Given the description of an element on the screen output the (x, y) to click on. 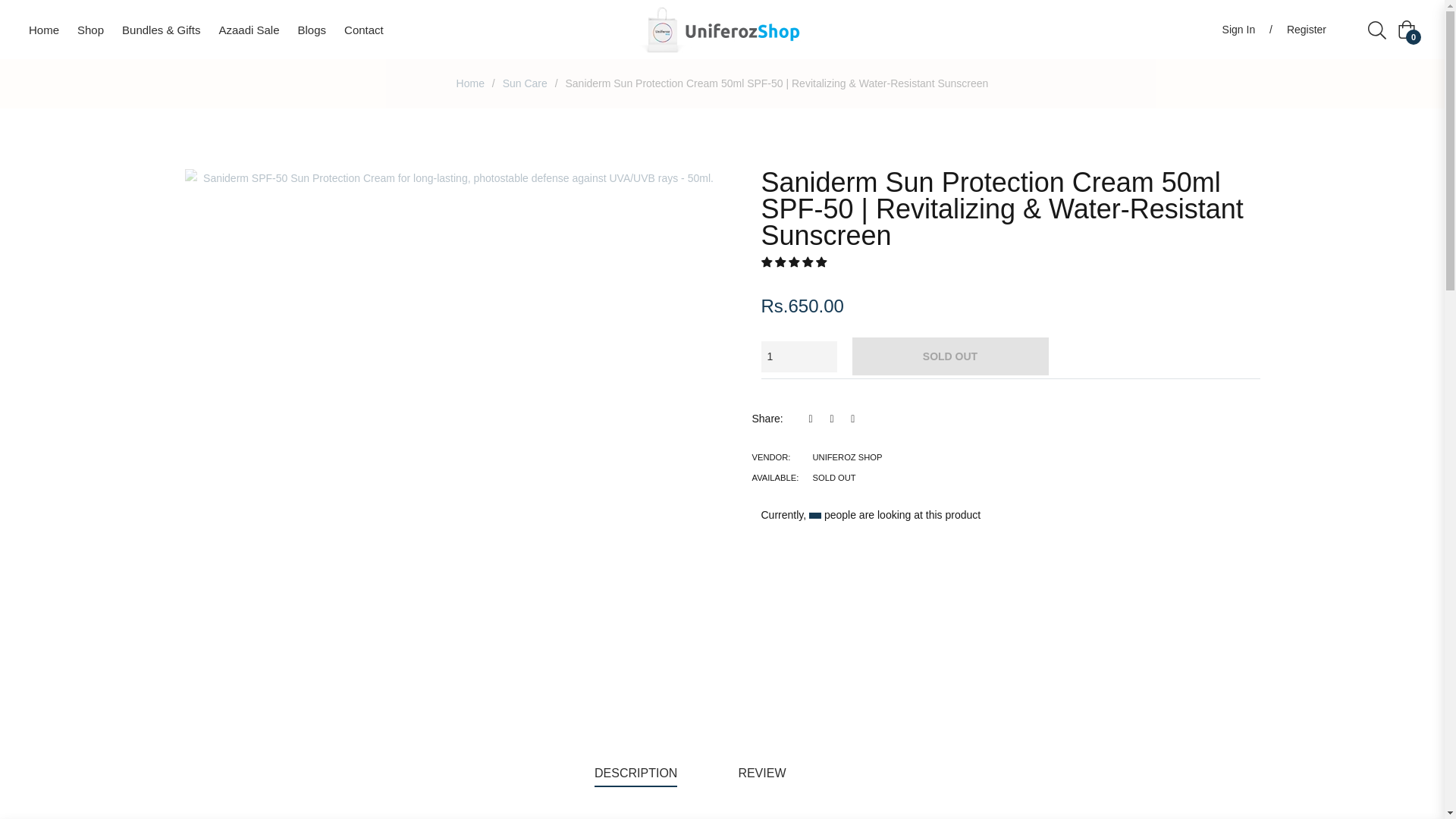
Shopping Cart (1406, 29)
Sun Care (525, 83)
1 (799, 356)
Contact (363, 29)
Register (1306, 29)
Tweet on Twitter (836, 418)
Home (470, 83)
Share on Facebook (815, 418)
Home (470, 83)
Azaadi Sale (248, 29)
